Given the description of an element on the screen output the (x, y) to click on. 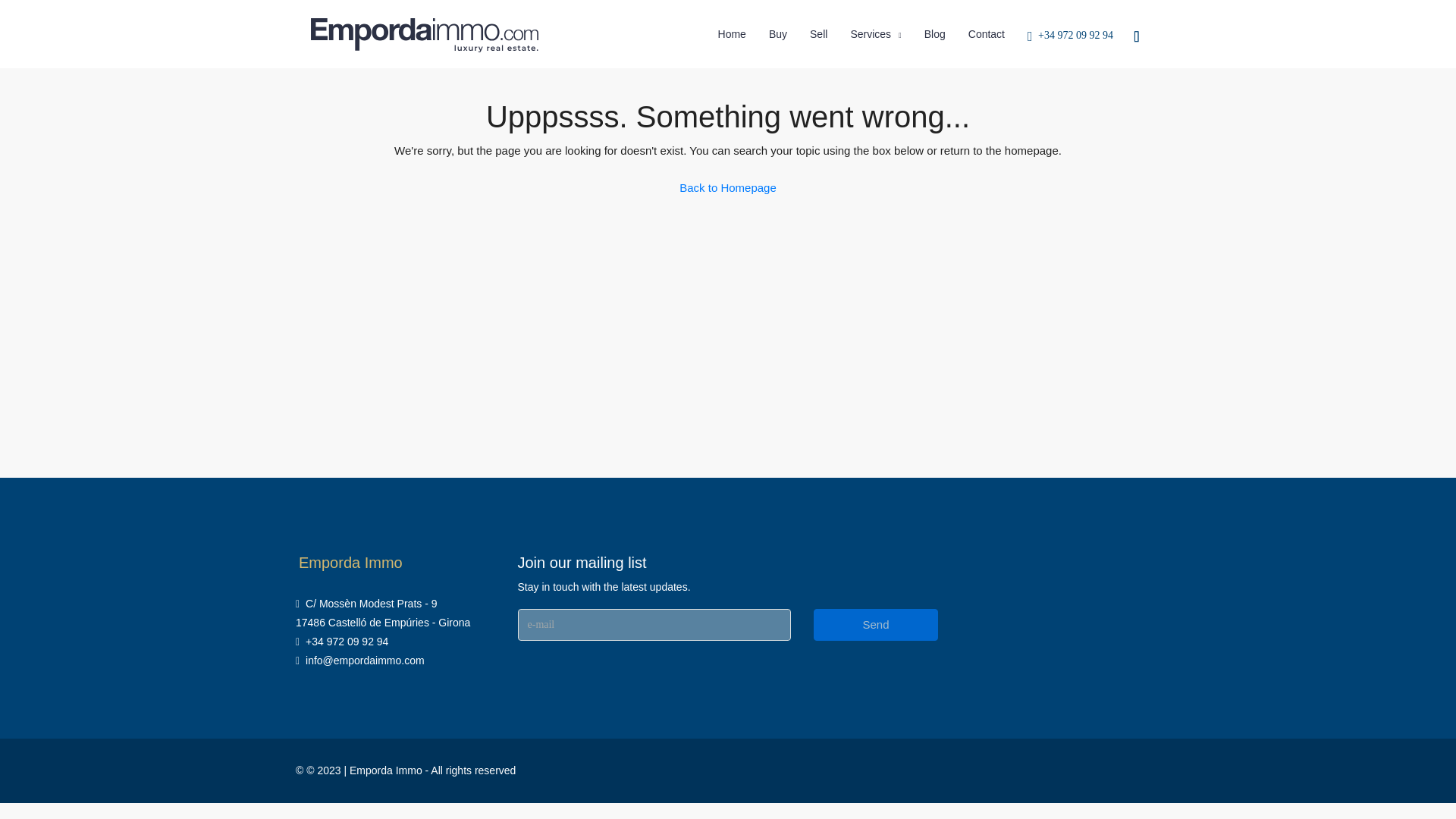
Send (874, 624)
Services (875, 34)
Back to Homepage (727, 187)
